Given the description of an element on the screen output the (x, y) to click on. 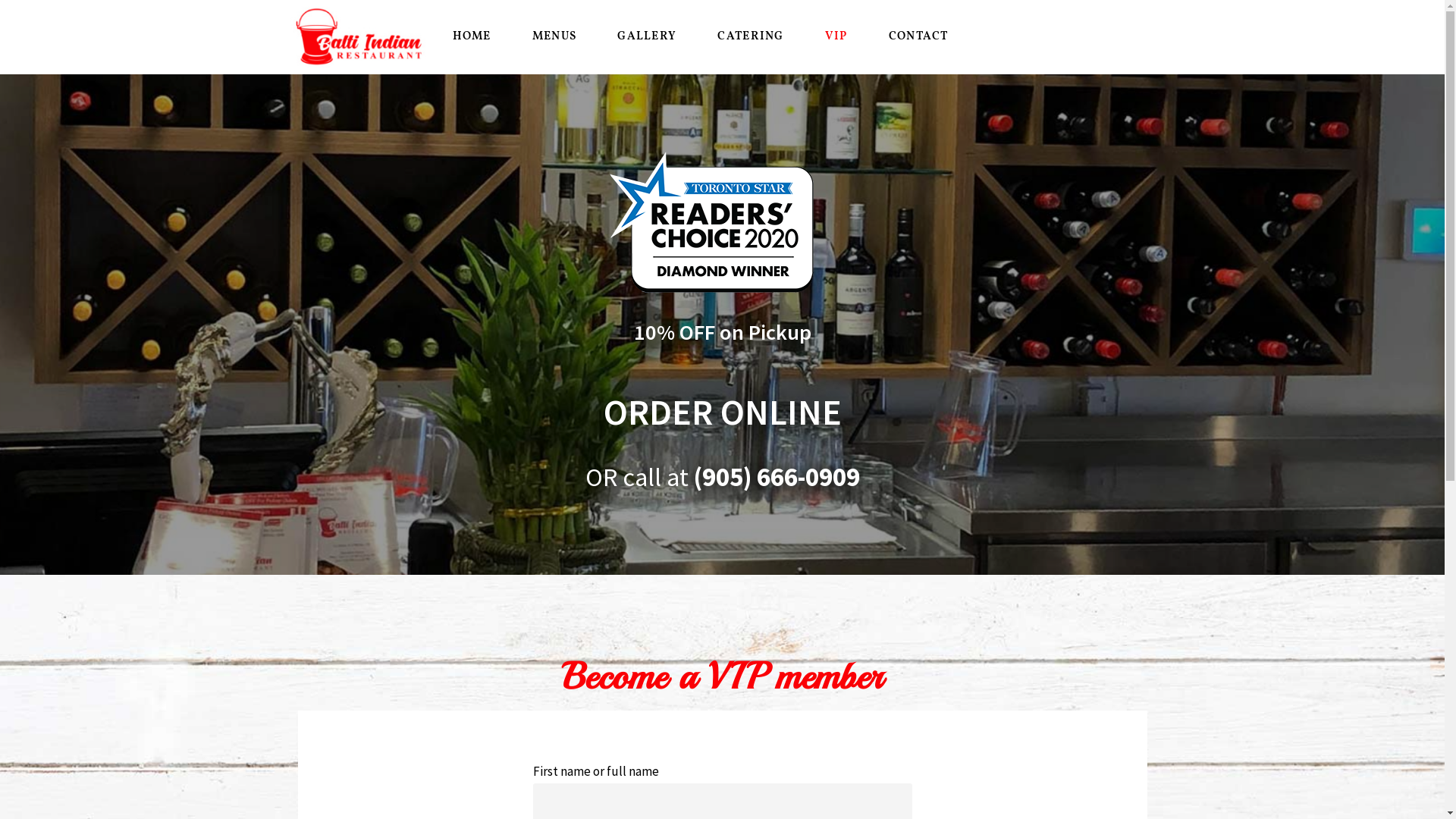
MENUS Element type: text (554, 36)
VIP Element type: text (836, 36)
(905) 666-0909 Element type: text (776, 476)
Skip to content Element type: text (11, 31)
GALLERY Element type: text (646, 36)
HOME Element type: text (470, 36)
CATERING Element type: text (750, 36)
ORDER ONLINE Element type: text (722, 411)
CONTACT Element type: text (918, 36)
